Given the description of an element on the screen output the (x, y) to click on. 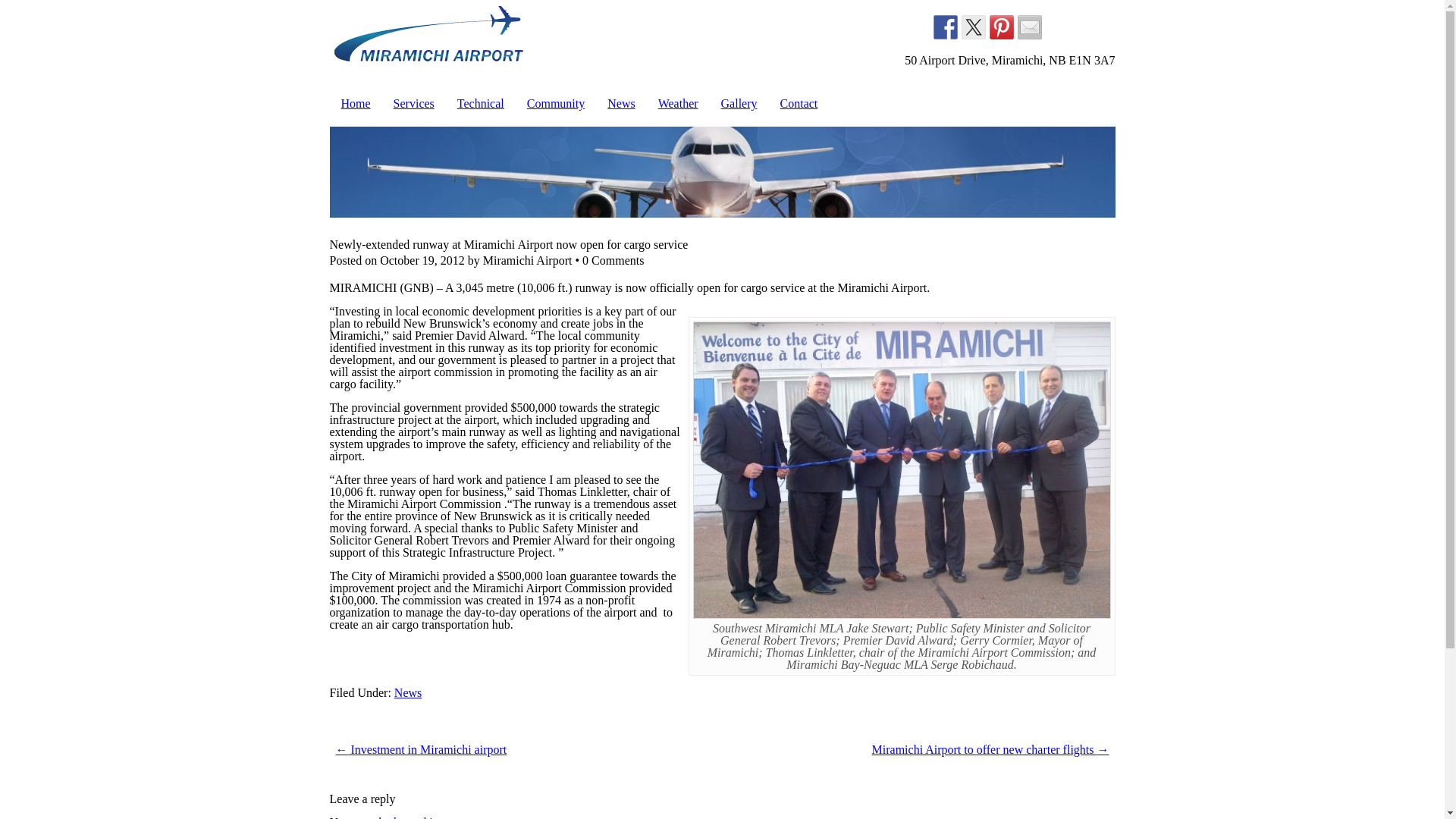
Gallery (739, 103)
logged in (416, 817)
View all posts by Miramichi Airport (527, 259)
Technical (480, 103)
Share on Twitter (972, 27)
Pin it with Pinterest (1001, 27)
0 Comments (612, 259)
Contact (798, 103)
Share by email (1029, 27)
Weather (678, 103)
